Given the description of an element on the screen output the (x, y) to click on. 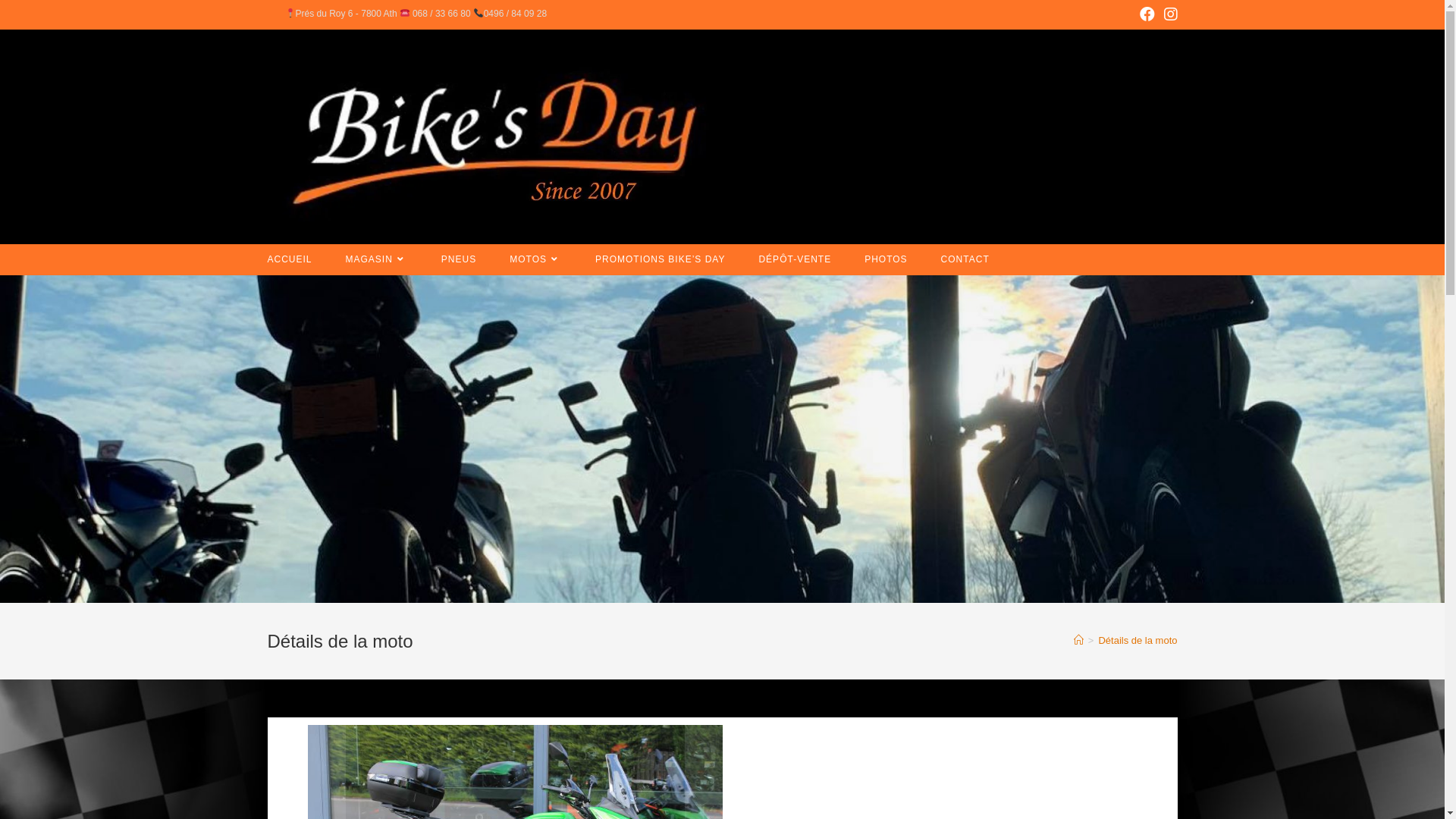
PHOTOS Element type: text (885, 259)
ACCUEIL Element type: text (289, 259)
Language switcher : Dutch Element type: hover (1406, 806)
MOTOS Element type: text (535, 259)
MAGASIN Element type: text (376, 259)
CONTACT Element type: text (965, 259)
PNEUS Element type: text (458, 259)
